Given the description of an element on the screen output the (x, y) to click on. 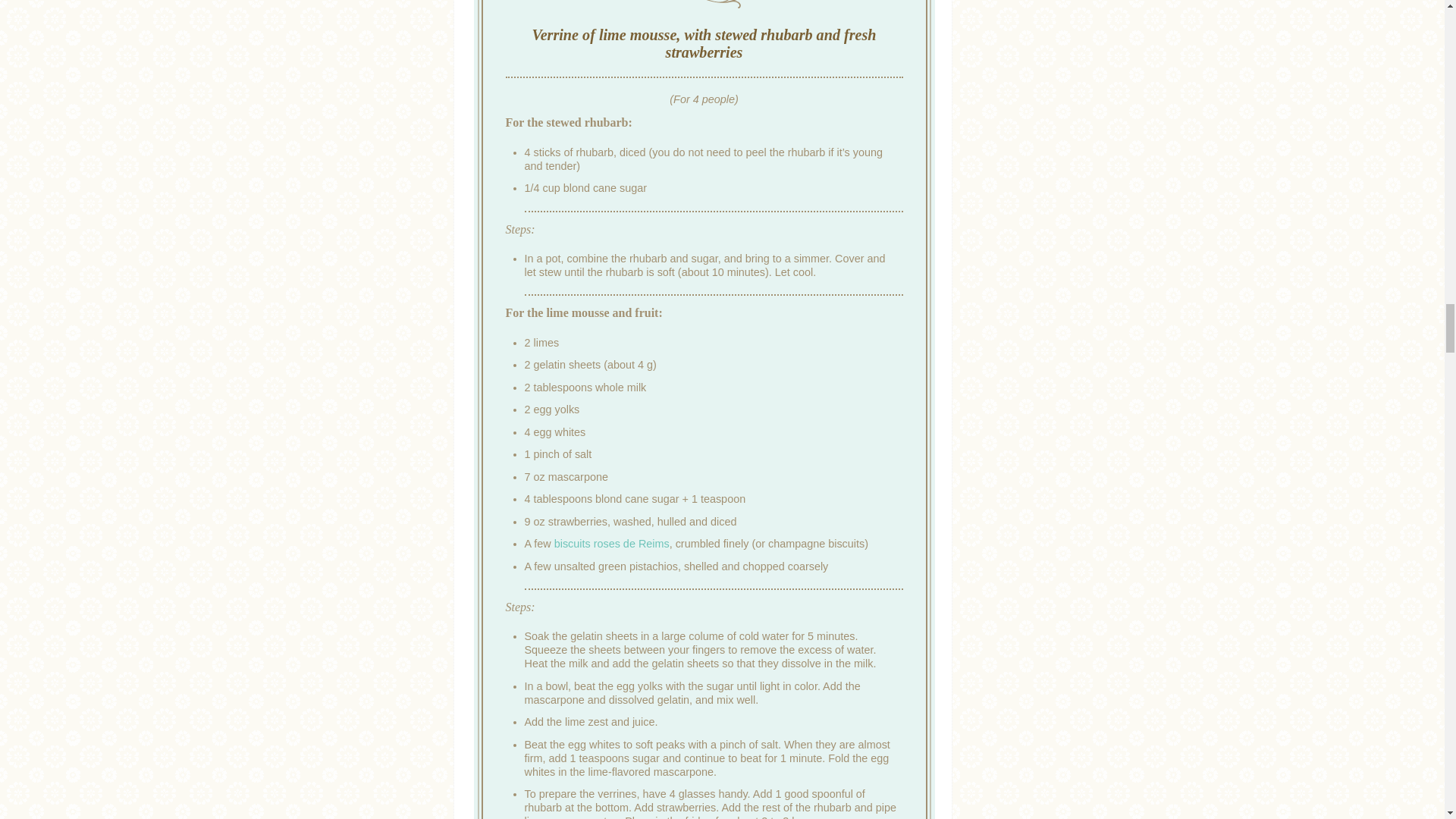
biscuits roses de Reims (610, 543)
